Given the description of an element on the screen output the (x, y) to click on. 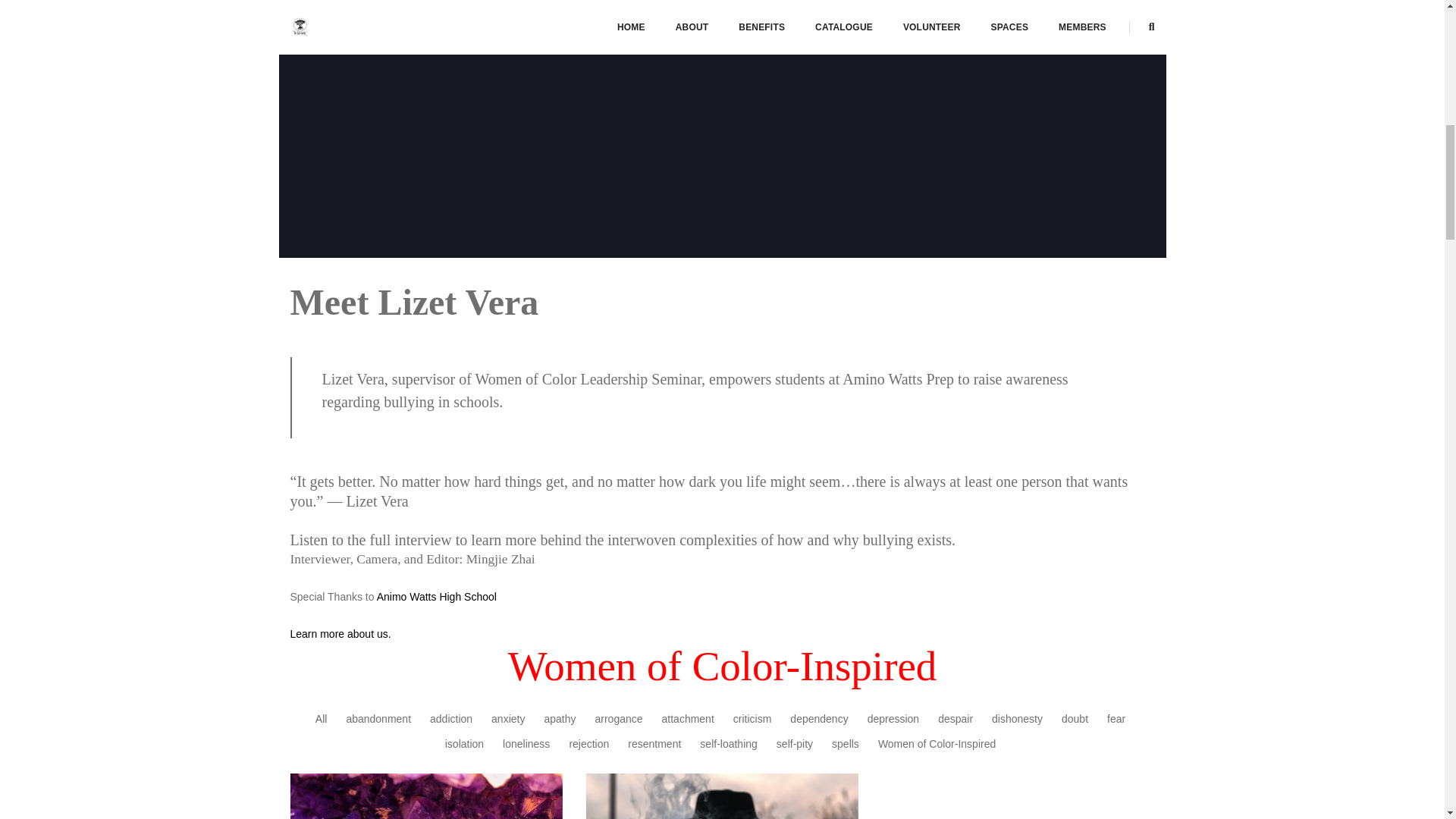
Learn more about us.  (341, 633)
Animo Watts High School (436, 596)
